Given the description of an element on the screen output the (x, y) to click on. 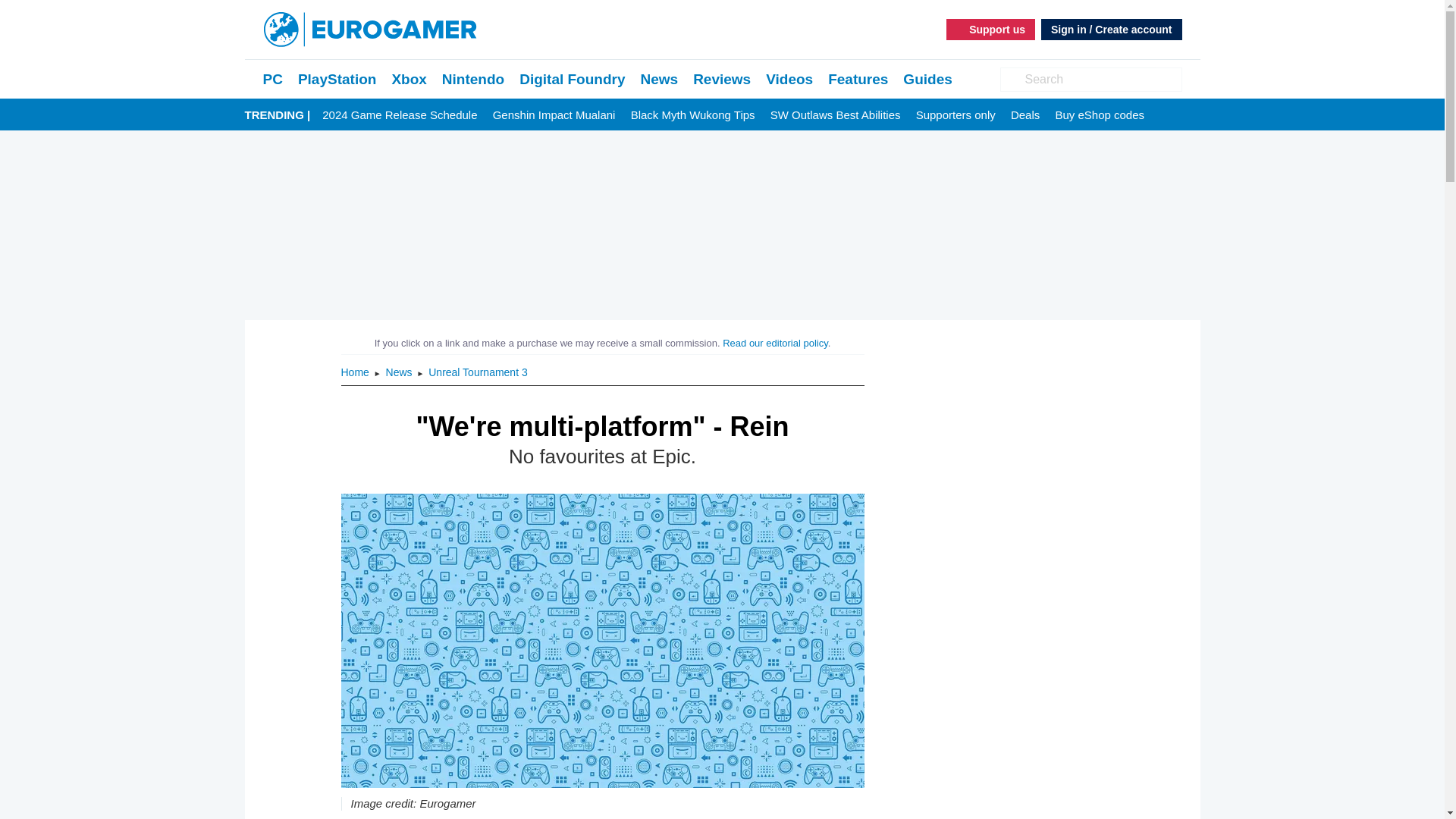
Genshin Impact Mualani (554, 114)
Home (356, 372)
Videos (788, 78)
Genshin Impact Mualani (554, 114)
Nintendo (472, 78)
SW Outlaws Best Abilities (835, 114)
SW Outlaws Best Abilities (835, 114)
2024 Game Release Schedule (399, 114)
News (399, 372)
Home (356, 372)
